Given the description of an element on the screen output the (x, y) to click on. 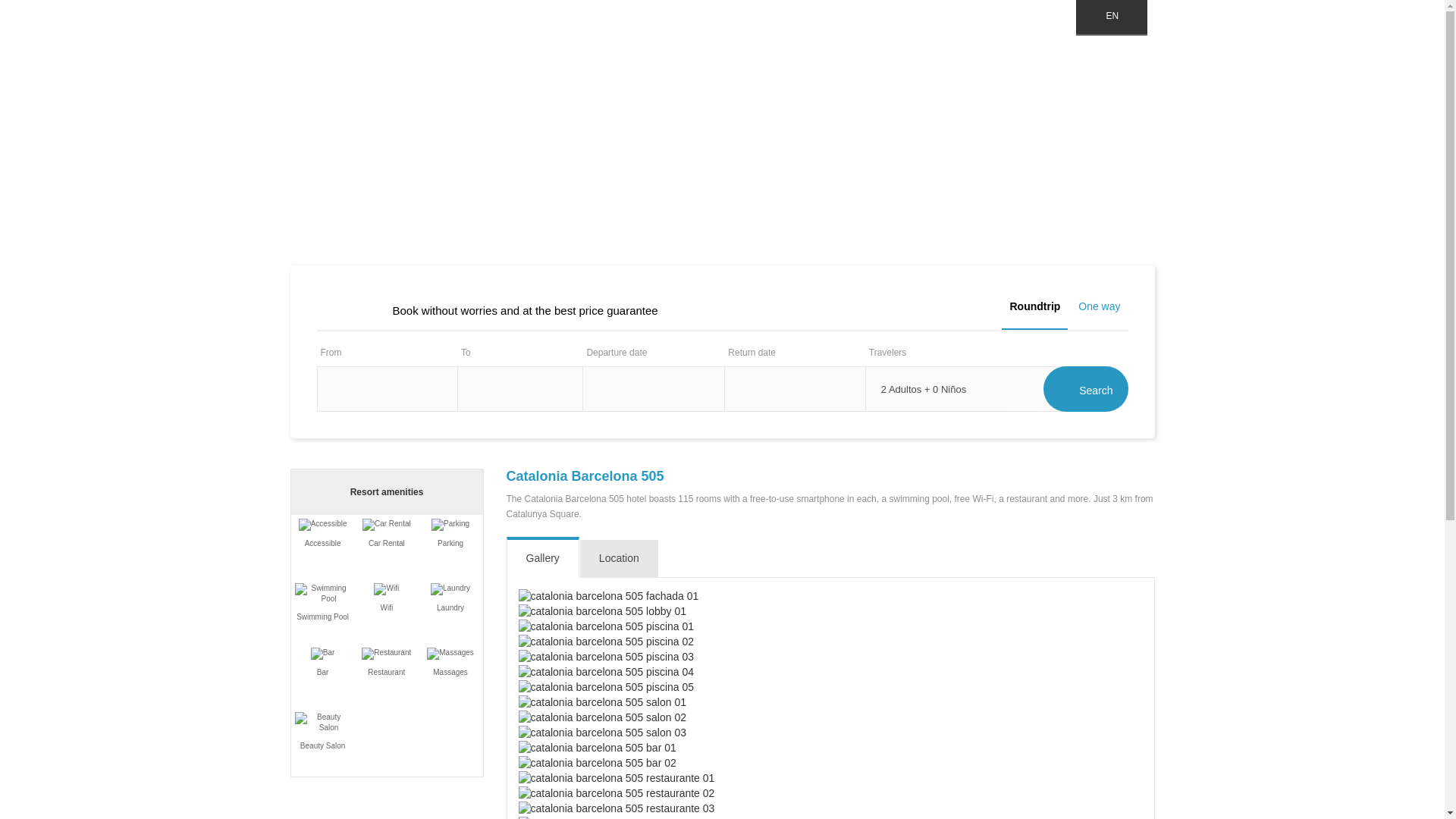
Bar (322, 653)
Wifi (386, 589)
Swimming Pool (322, 593)
EN (1111, 18)
Restaurant (385, 653)
Laundry (450, 589)
One way (1098, 306)
Car Rental (386, 524)
Parking (449, 524)
Catalonia Hotels (456, 55)
Massages (450, 653)
Roundtrip (1034, 310)
Beauty Salon (322, 722)
Accessible (322, 524)
